Given the description of an element on the screen output the (x, y) to click on. 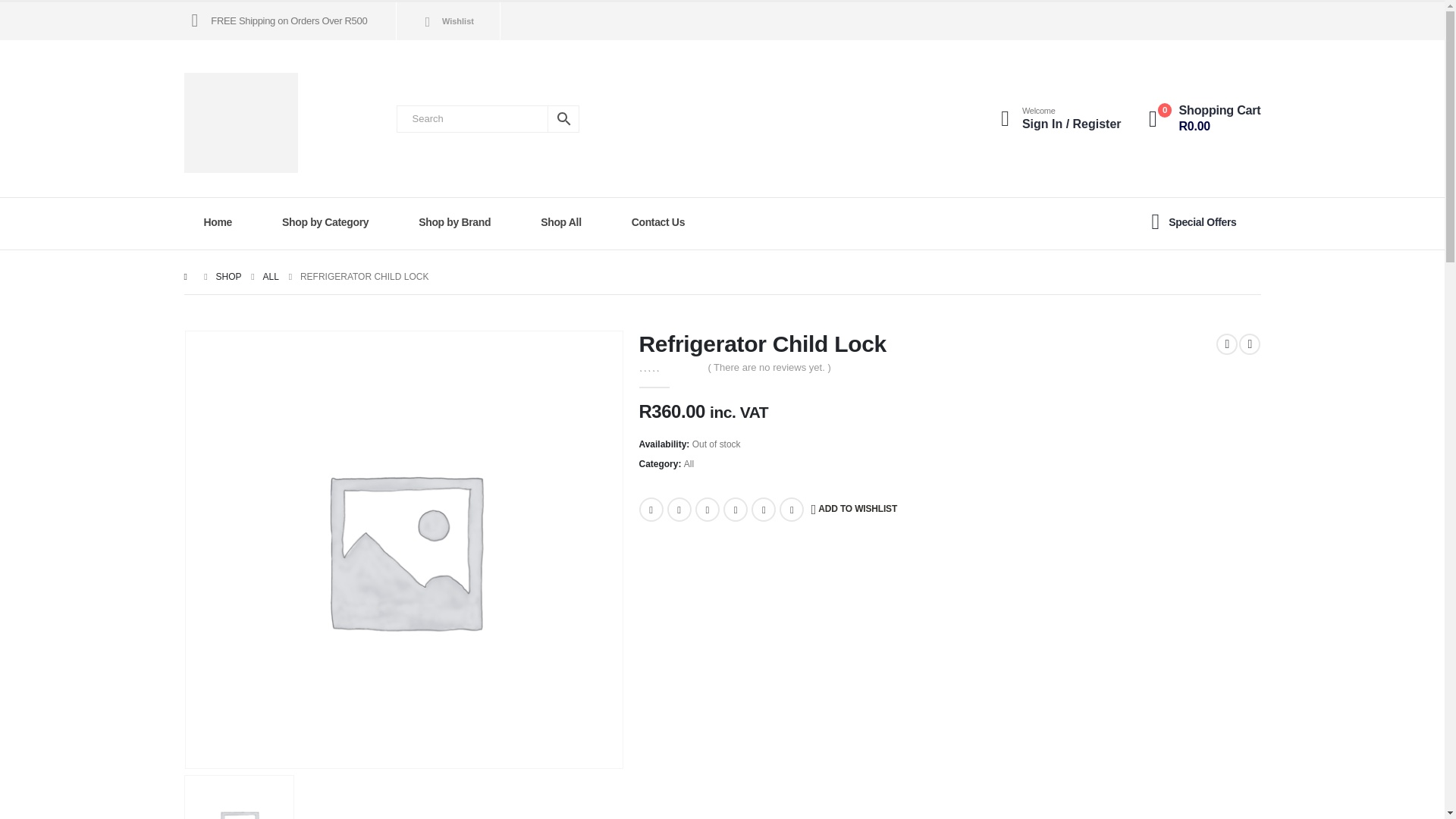
LinkedIn (707, 509)
SHOP (228, 276)
Contact Us (662, 222)
WhatsApp (790, 509)
Wishlist (444, 21)
Twitter (678, 509)
Shop All (565, 222)
Shop by Category (329, 222)
Facebook (650, 509)
0 (668, 366)
